Given the description of an element on the screen output the (x, y) to click on. 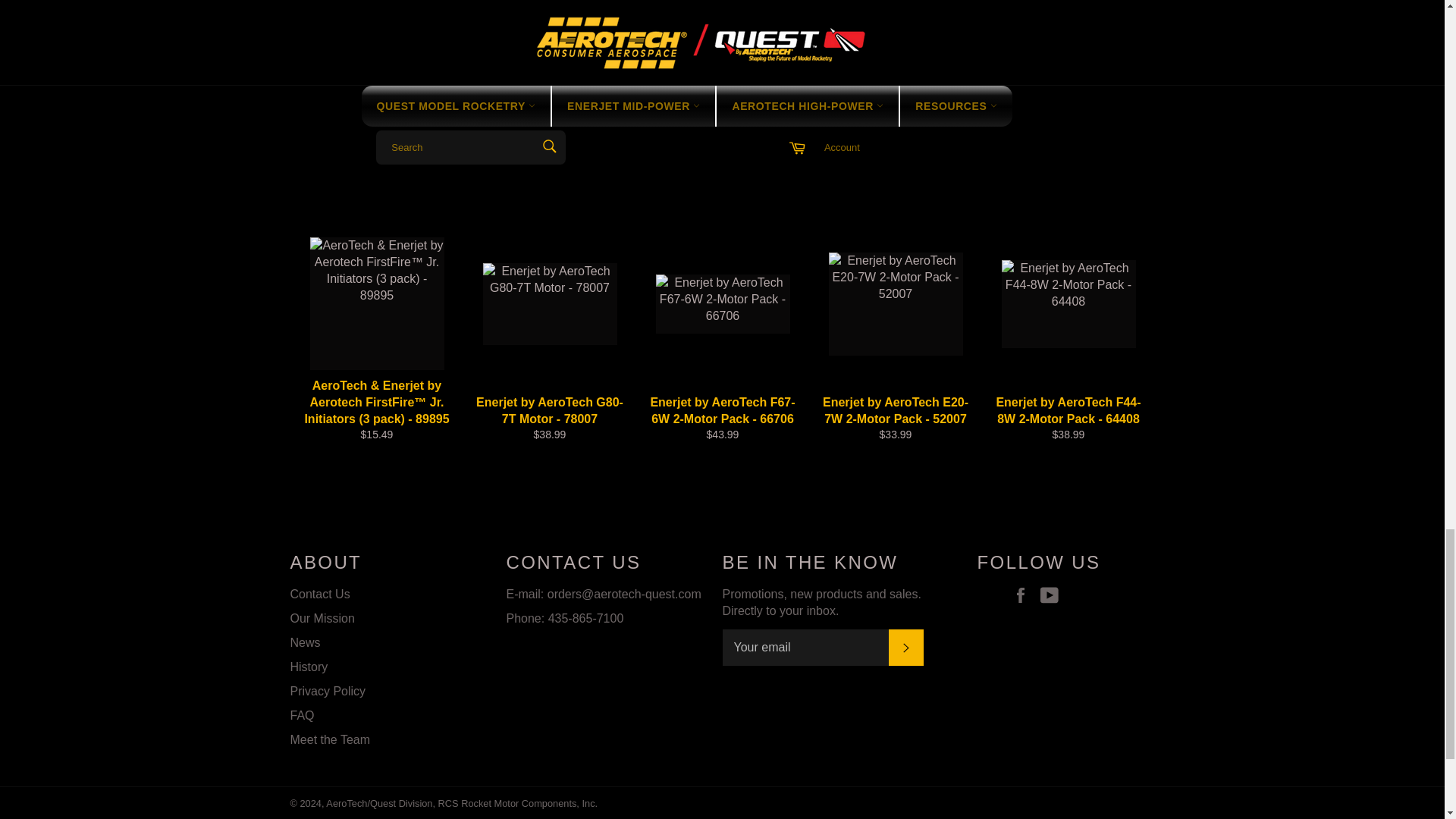
Pin on Pinterest (1144, 11)
Tweet on Twitter (1117, 11)
Share on Facebook (1088, 11)
